Given the description of an element on the screen output the (x, y) to click on. 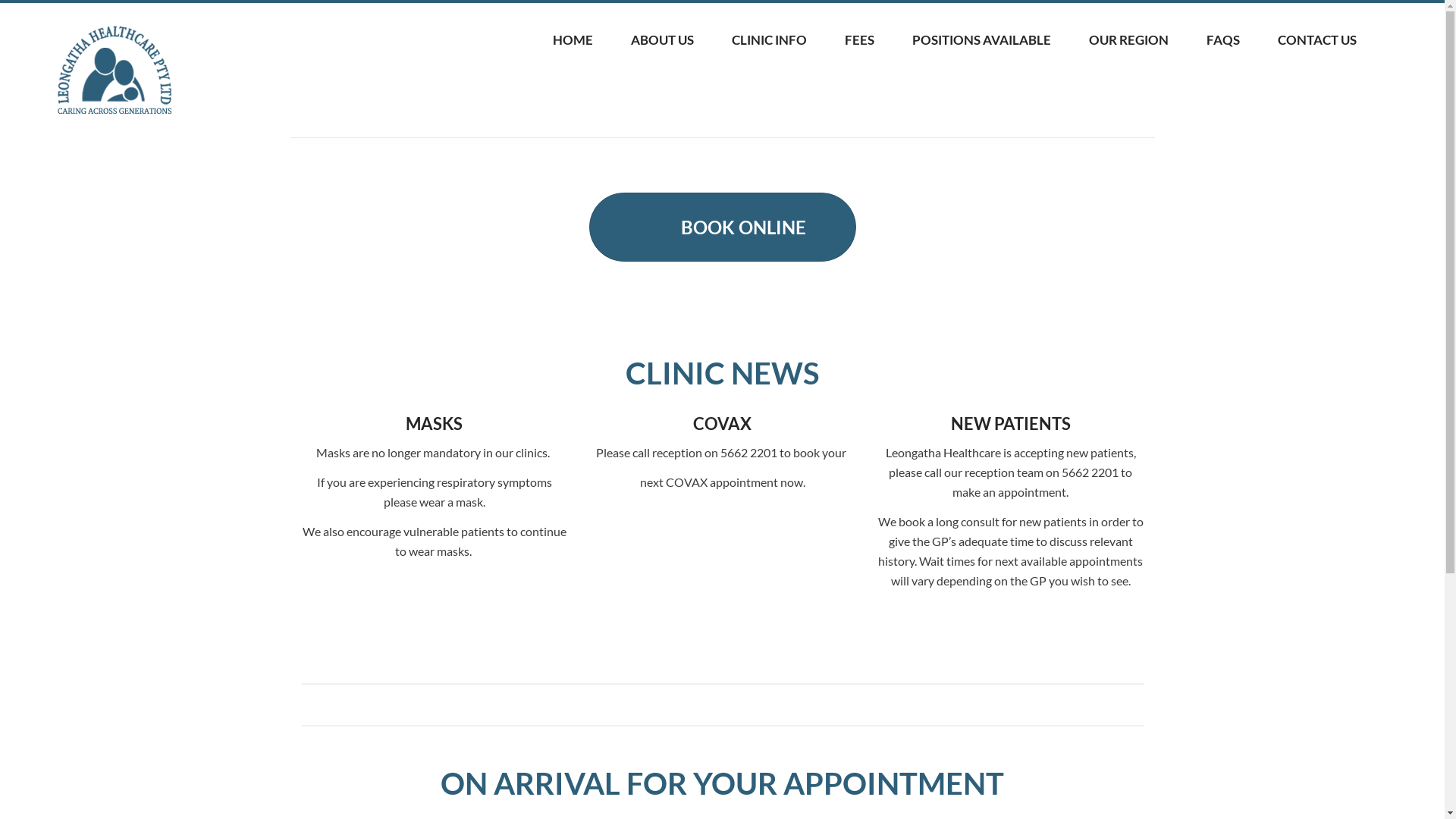
BOOK ONLINE Element type: text (721, 226)
HOME Element type: text (572, 39)
CLINIC INFO Element type: text (768, 39)
POSITIONS AVAILABLE Element type: text (981, 39)
OUR REGION Element type: text (1128, 39)
FEES Element type: text (859, 39)
FAQS Element type: text (1222, 39)
ABOUT US Element type: text (661, 39)
CONTACT US Element type: text (1316, 39)
